Given the description of an element on the screen output the (x, y) to click on. 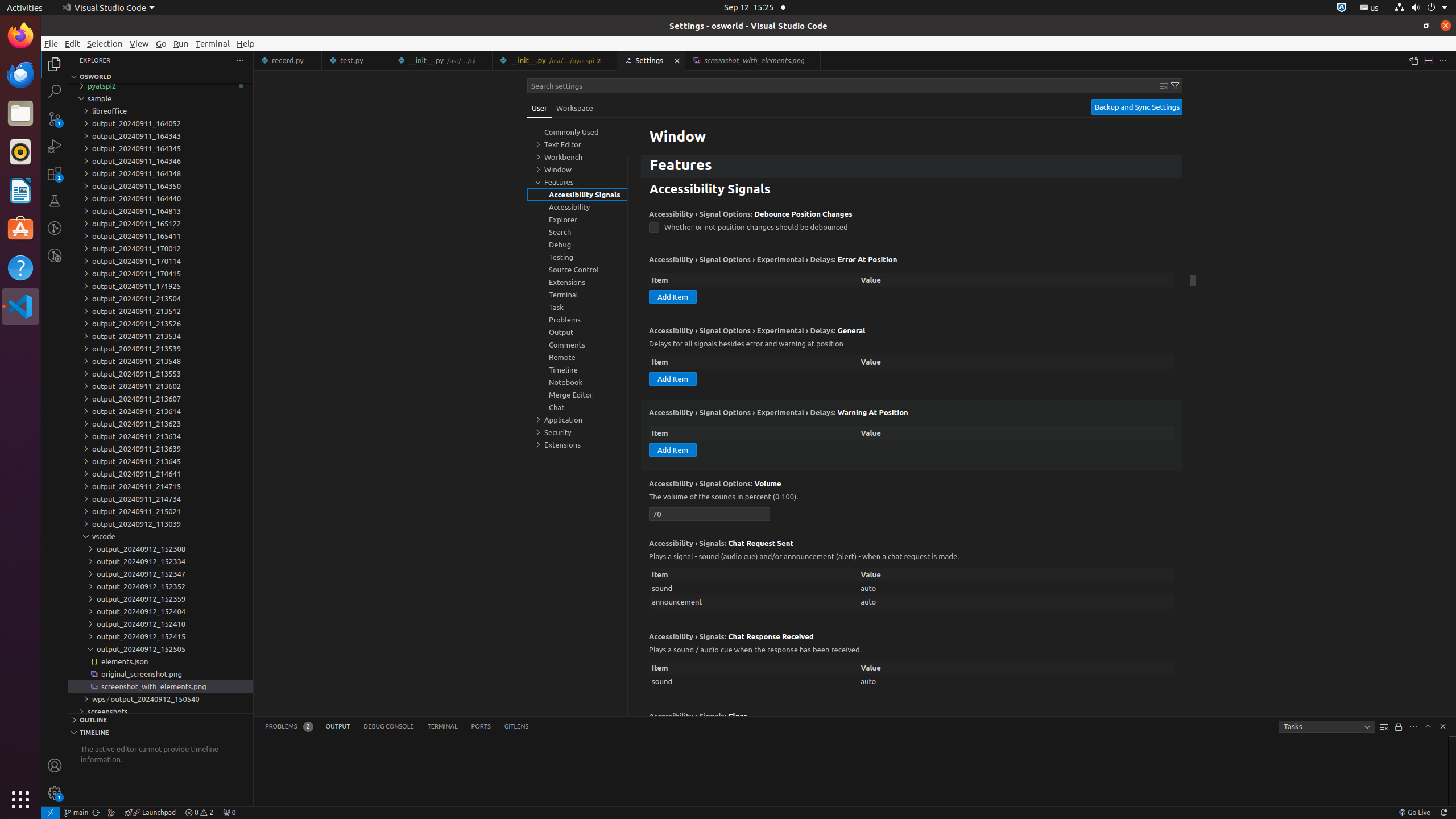
File Element type: push-button (50, 43)
Active View Switcher Element type: page-tab-list (396, 726)
Turn Auto Scrolling Off Element type: check-box (1398, 726)
Clear Output Element type: push-button (1383, 726)
Problems, group Element type: tree-item (577, 319)
